Given the description of an element on the screen output the (x, y) to click on. 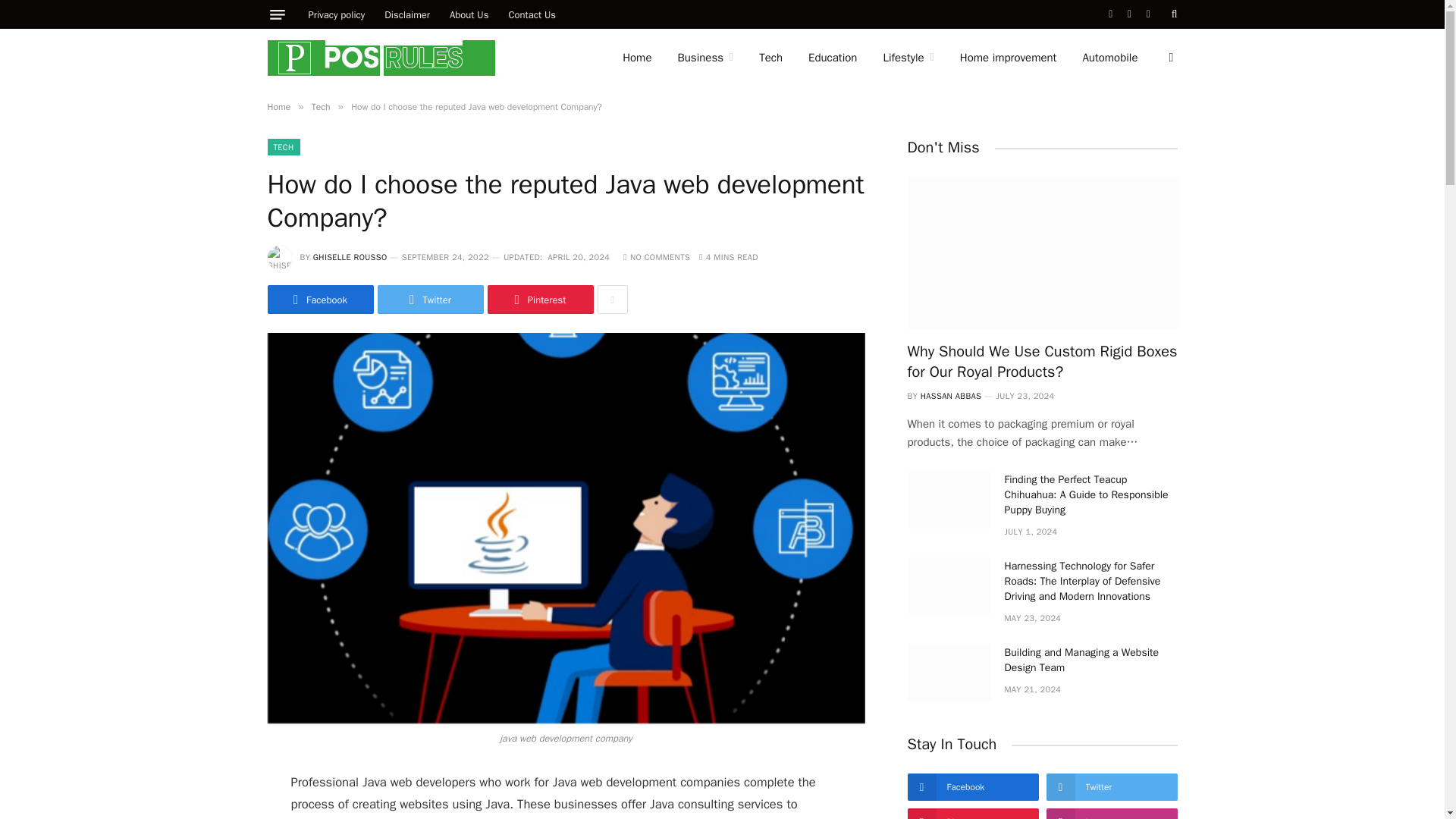
Privacy policy (336, 14)
Disclaimer (406, 14)
Contact Us (531, 14)
Business (704, 57)
About Us (468, 14)
Home (636, 57)
Post Rules (380, 56)
